Given the description of an element on the screen output the (x, y) to click on. 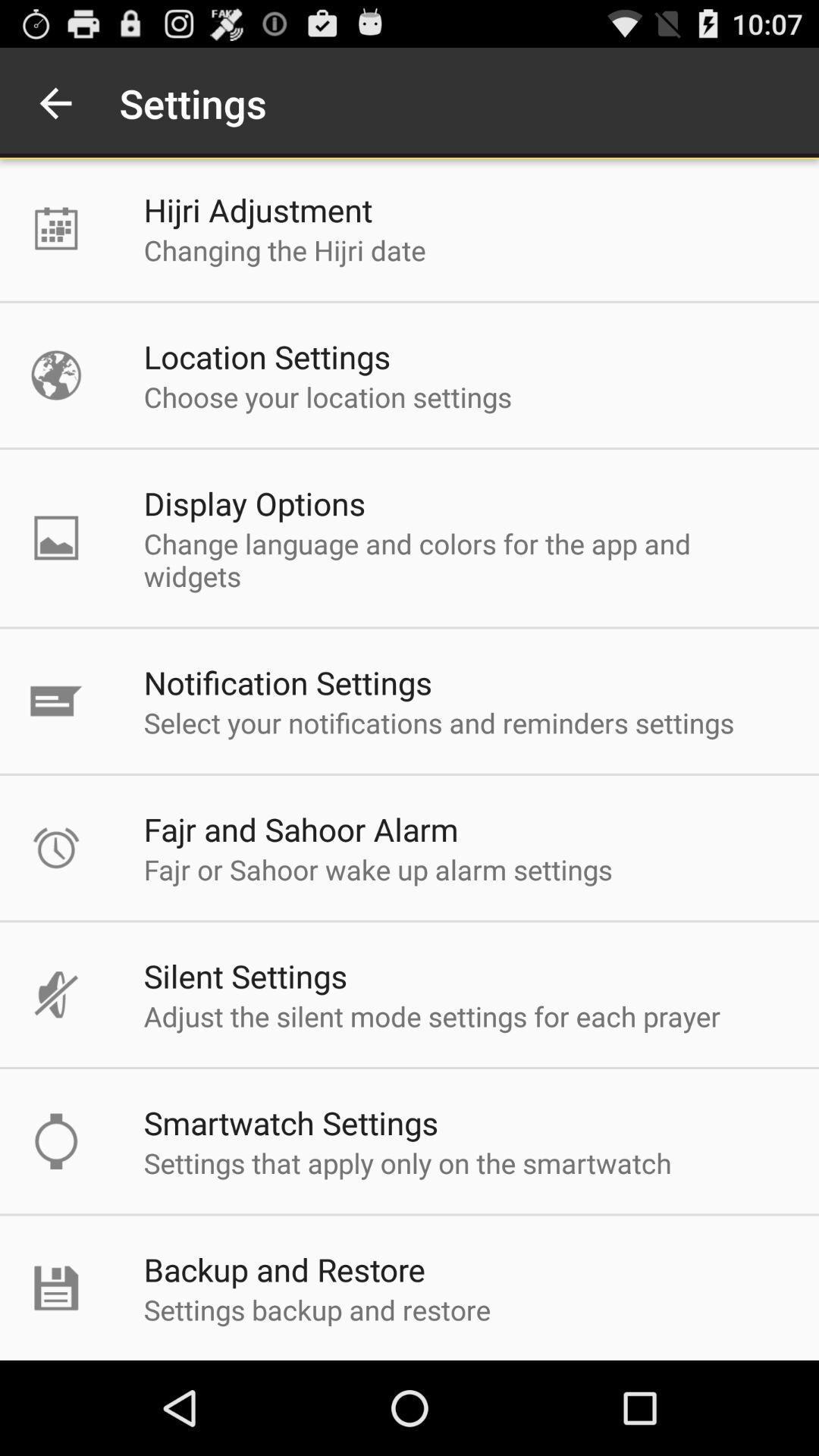
tap the choose your location (327, 396)
